Given the description of an element on the screen output the (x, y) to click on. 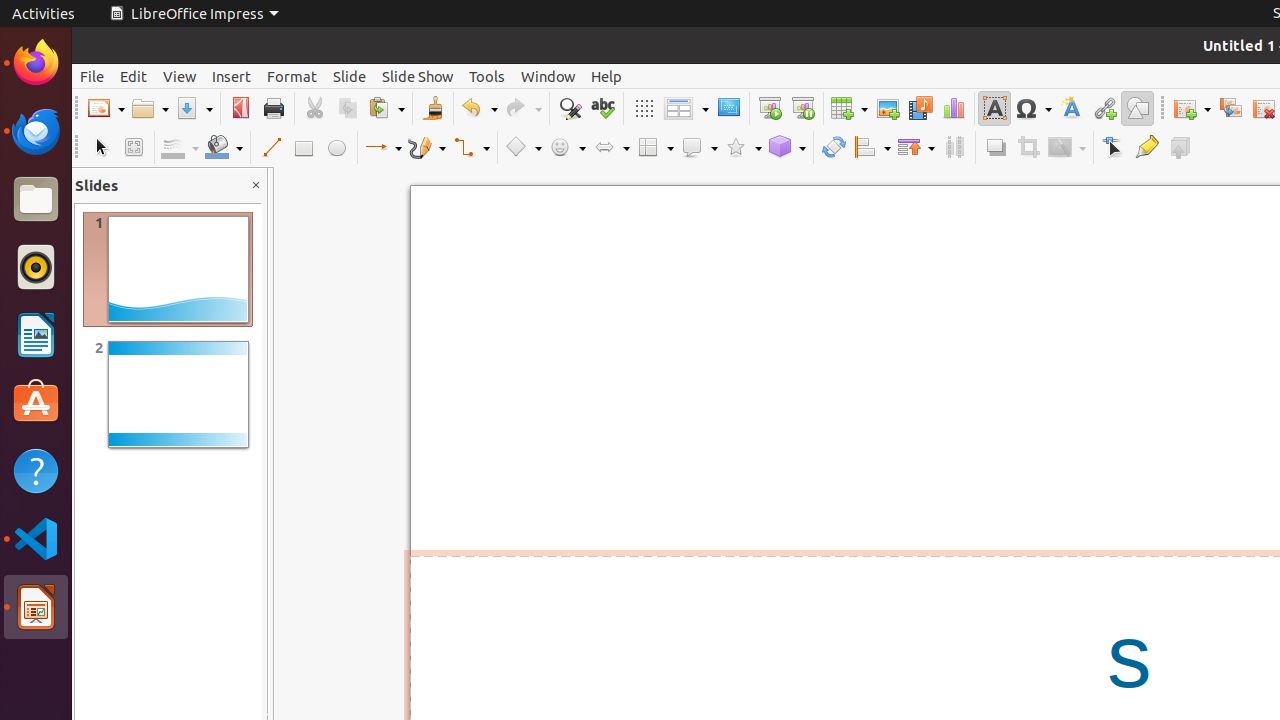
Media Element type: push-button (920, 108)
Fontwork Style Element type: toggle-button (1071, 108)
Hyperlink Element type: toggle-button (1104, 108)
Crop Element type: push-button (1028, 147)
LibreOffice Impress Element type: menu (193, 13)
